Given the description of an element on the screen output the (x, y) to click on. 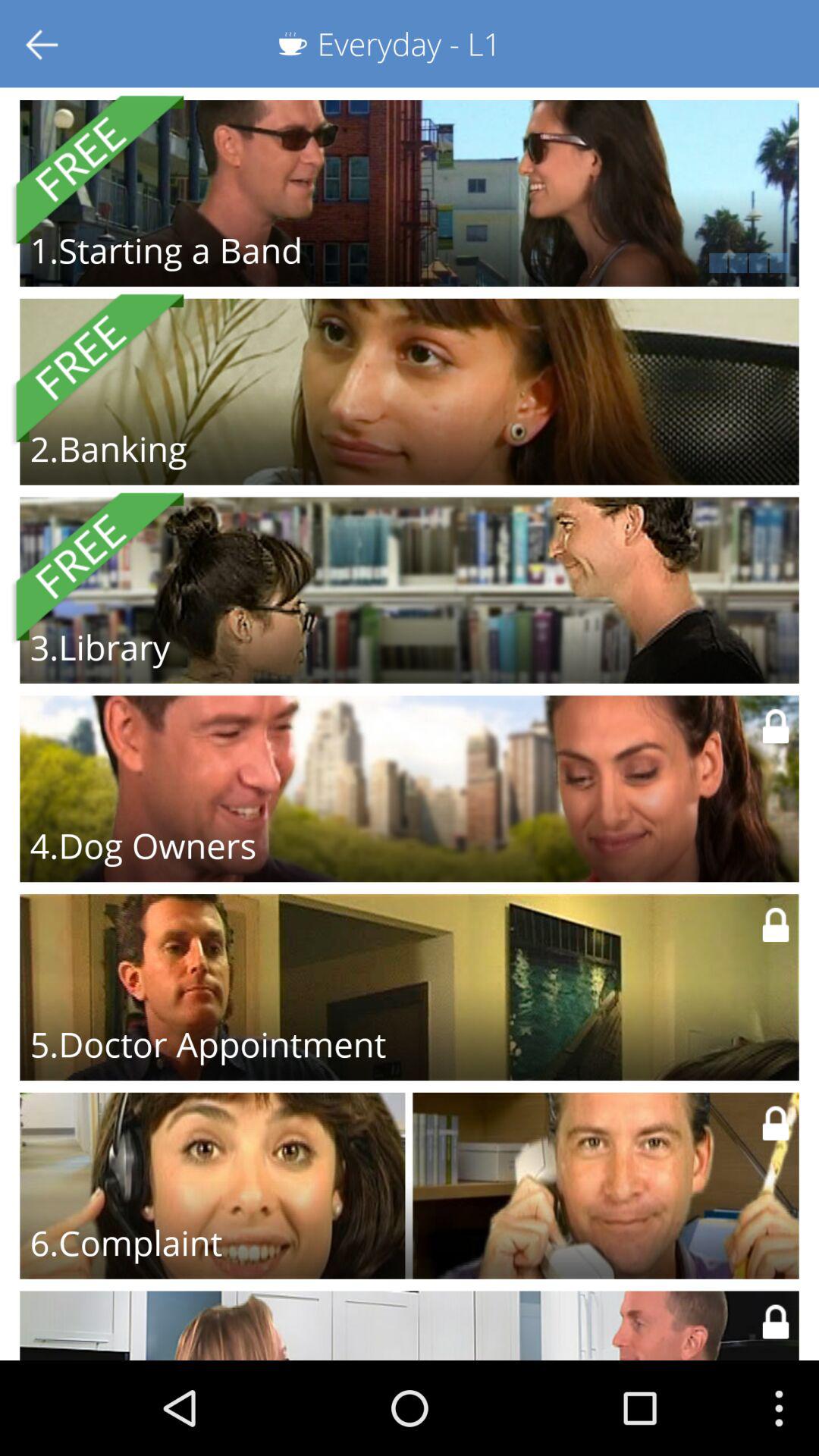
launch the icon next to 1 starting a item (608, 263)
